Given the description of an element on the screen output the (x, y) to click on. 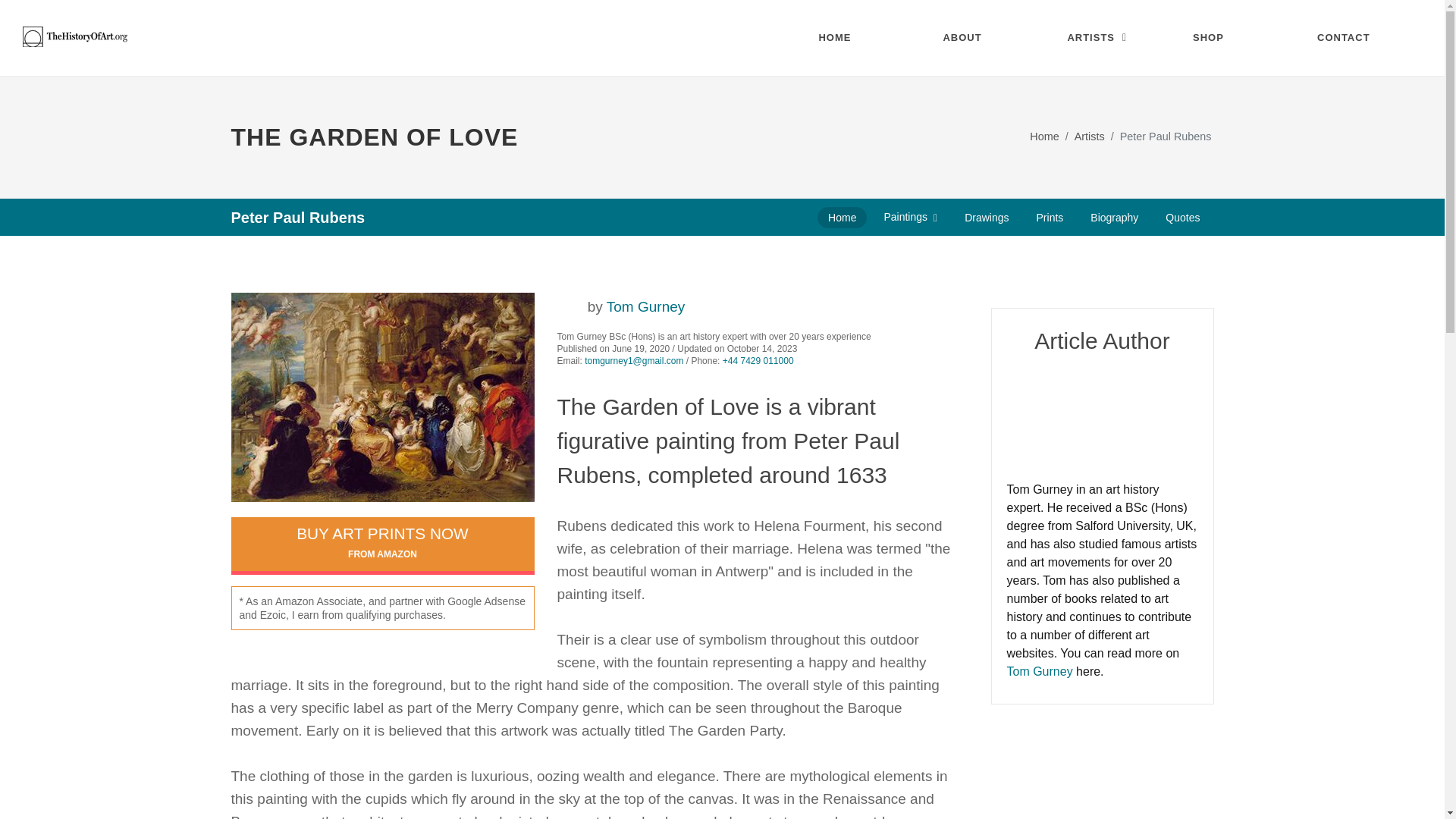
HOME (849, 38)
ABOUT (973, 38)
ARTISTS (1098, 38)
